Given the description of an element on the screen output the (x, y) to click on. 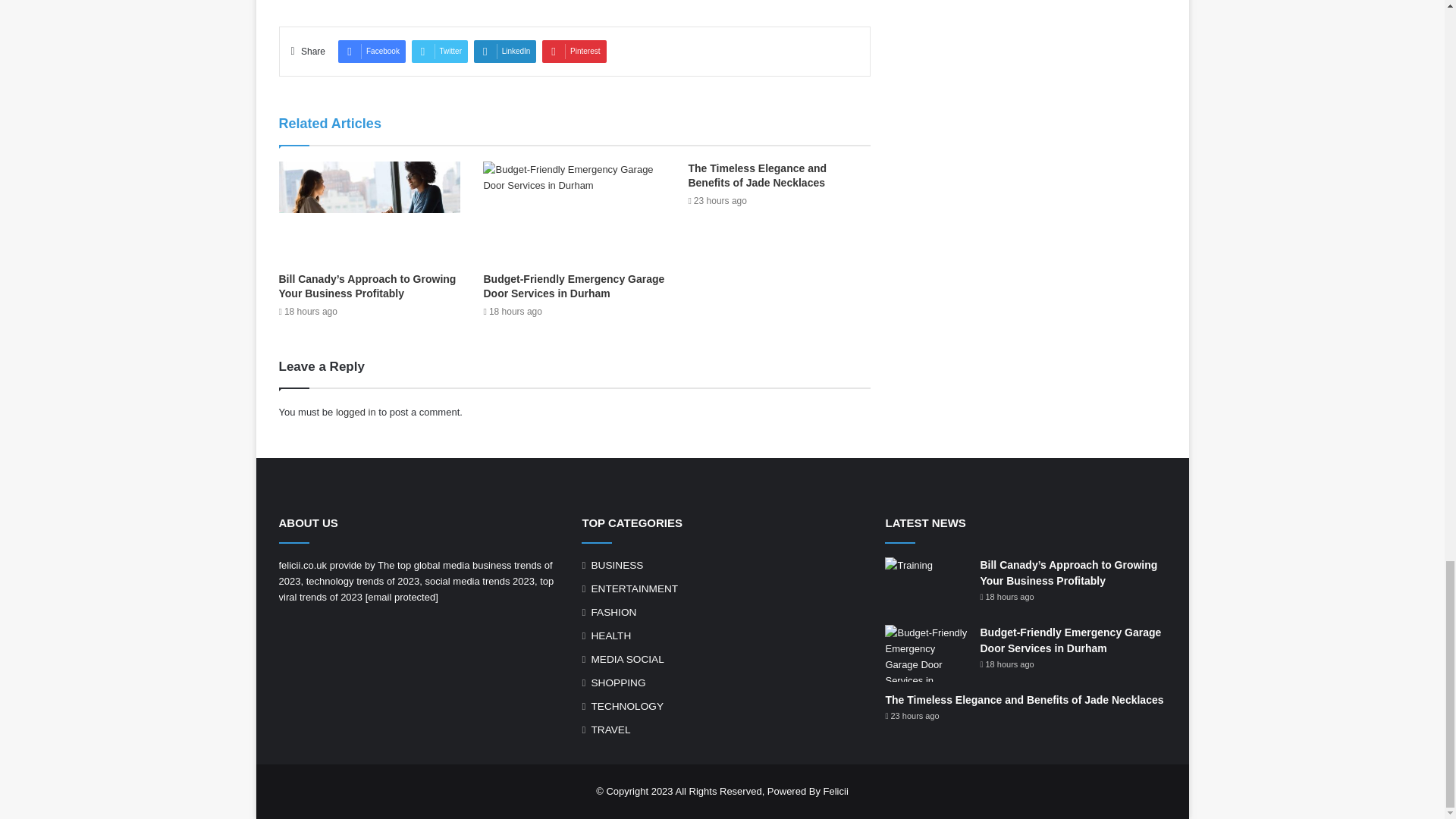
Facebook (371, 51)
